Given the description of an element on the screen output the (x, y) to click on. 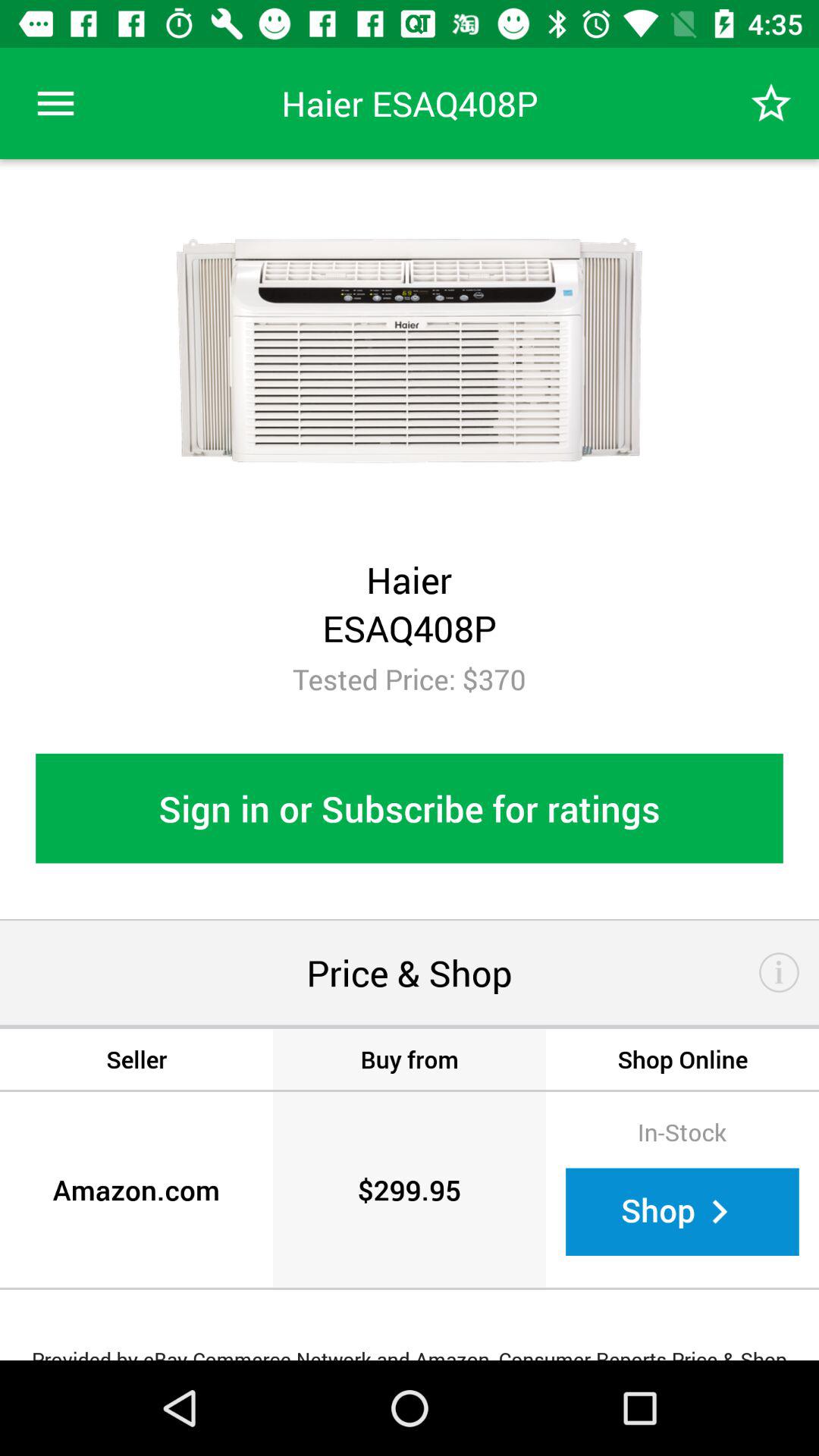
open the item next to haier esaq408p (55, 103)
